Given the description of an element on the screen output the (x, y) to click on. 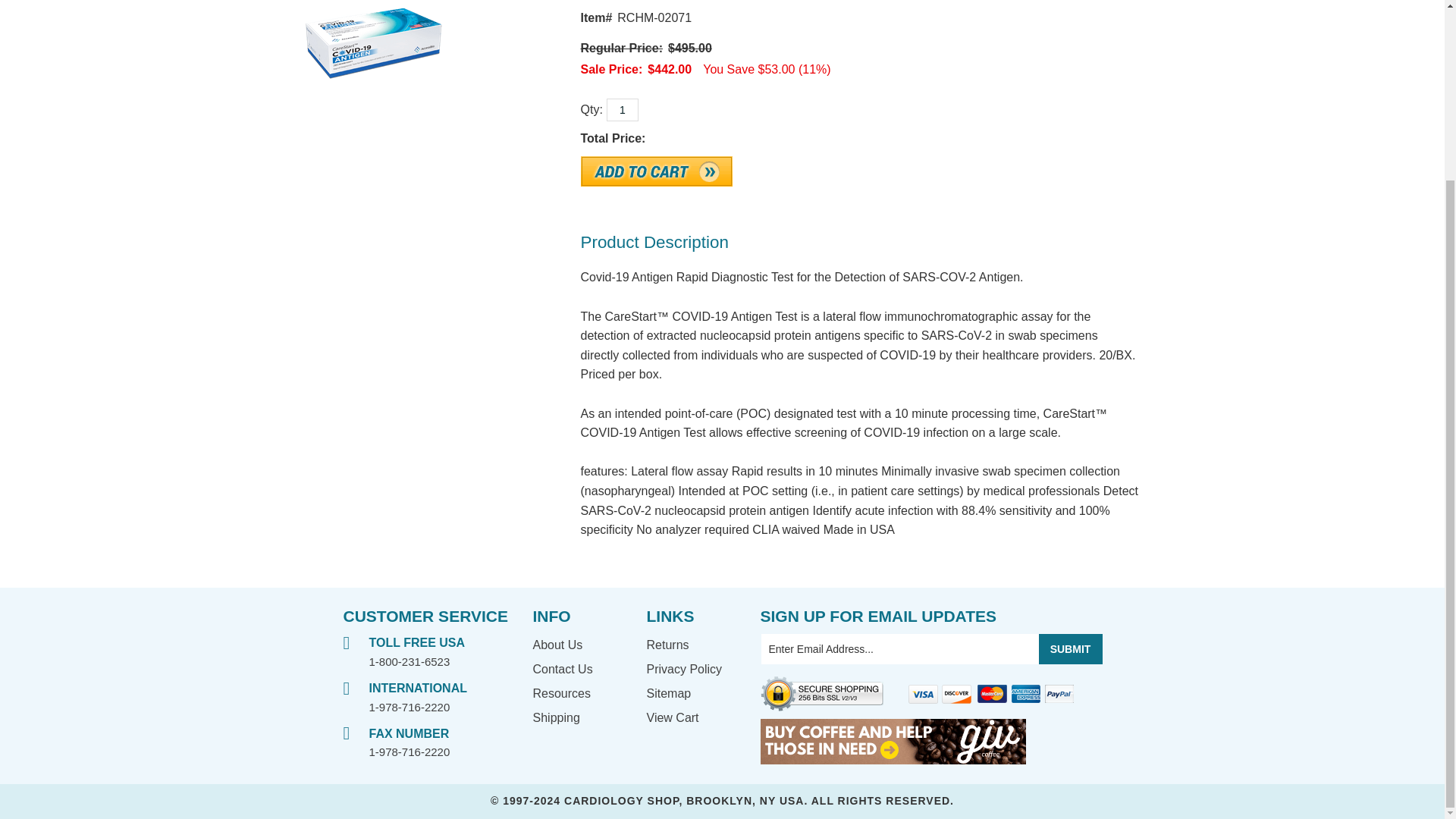
1-800-231-6523 (408, 661)
1 (623, 109)
SUBMIT (1070, 648)
Submit Email (1070, 648)
Add to cart (656, 171)
